Given the description of an element on the screen output the (x, y) to click on. 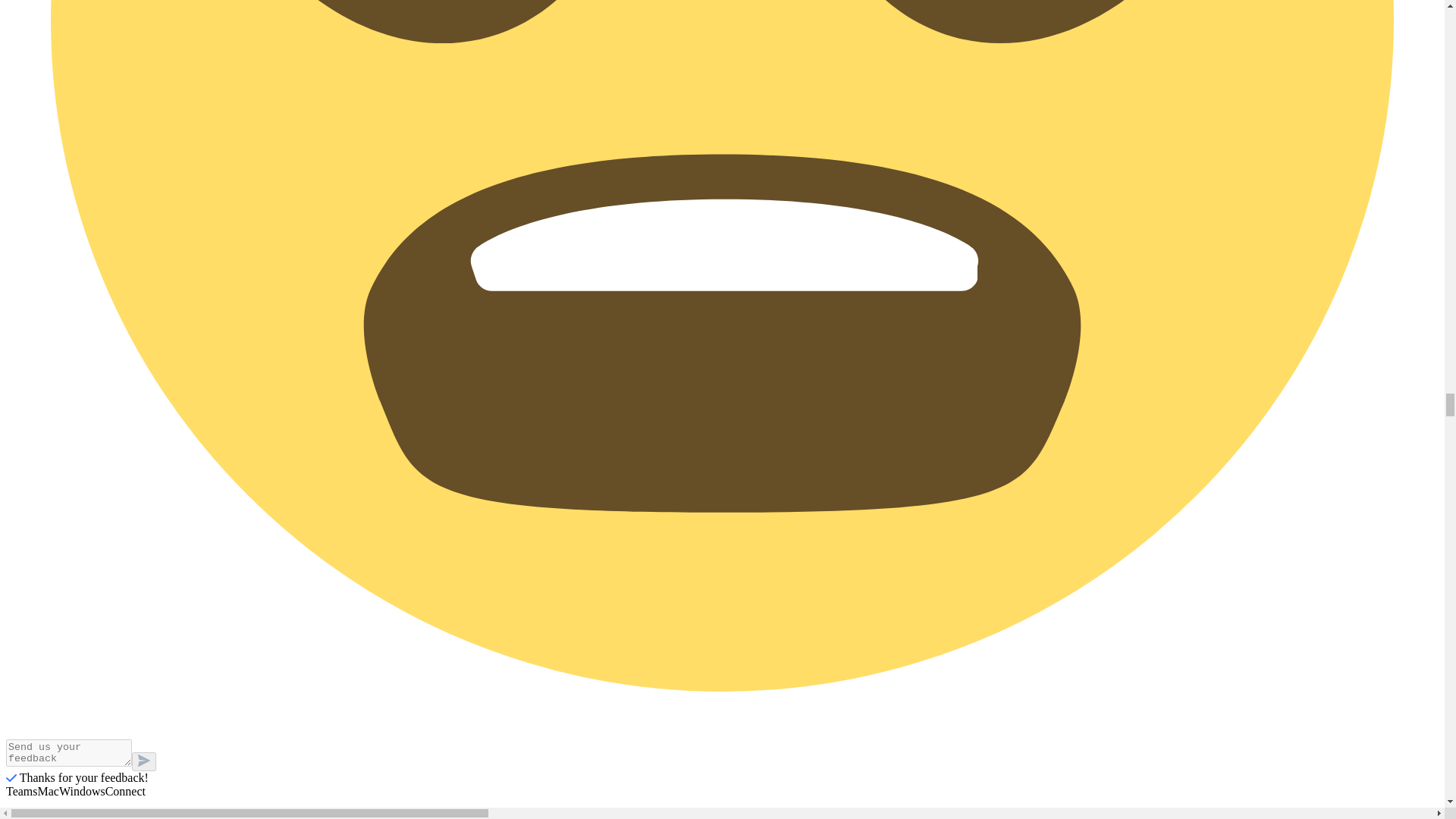
Submit Button (143, 761)
